Given the description of an element on the screen output the (x, y) to click on. 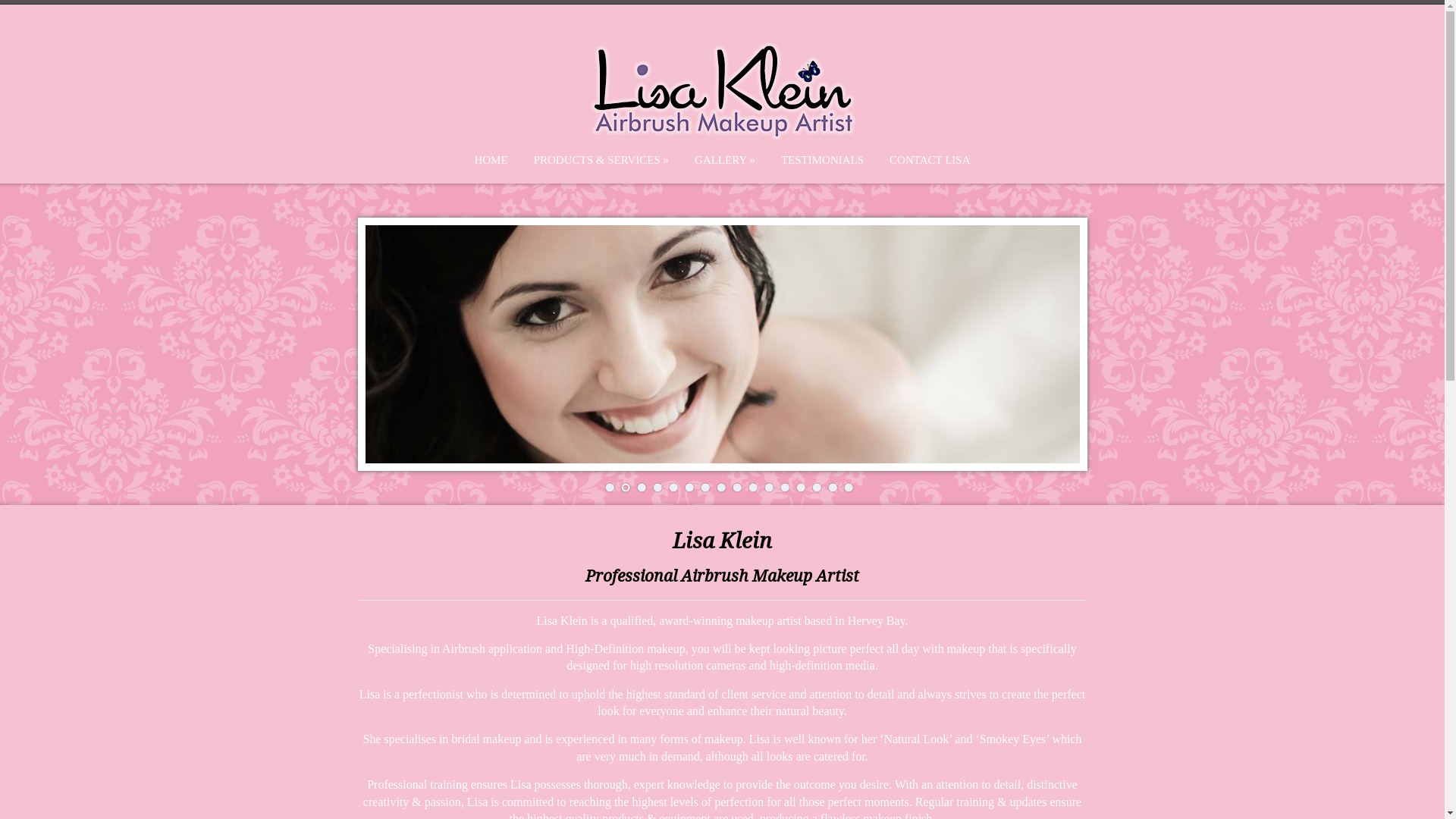
HOME Element type: text (490, 159)
CONTACT LISA Element type: text (929, 159)
TESTIMONIALS Element type: text (822, 159)
